Given the description of an element on the screen output the (x, y) to click on. 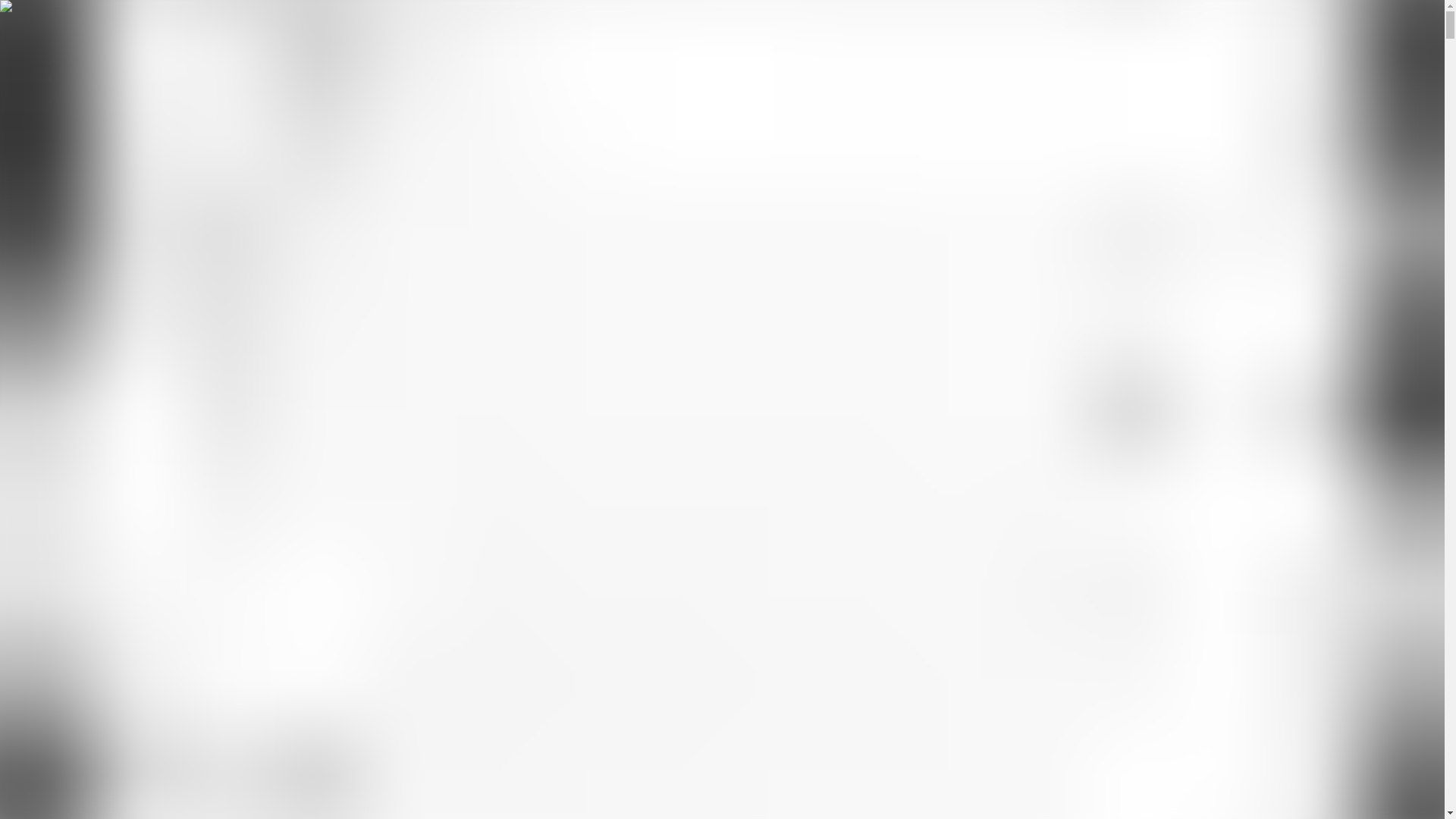
Education (65, 215)
Resources (35, 177)
Get Started For Free (83, 229)
Login (19, 229)
Download (115, 215)
Pricing (22, 215)
Open menu (38, 54)
